Given the description of an element on the screen output the (x, y) to click on. 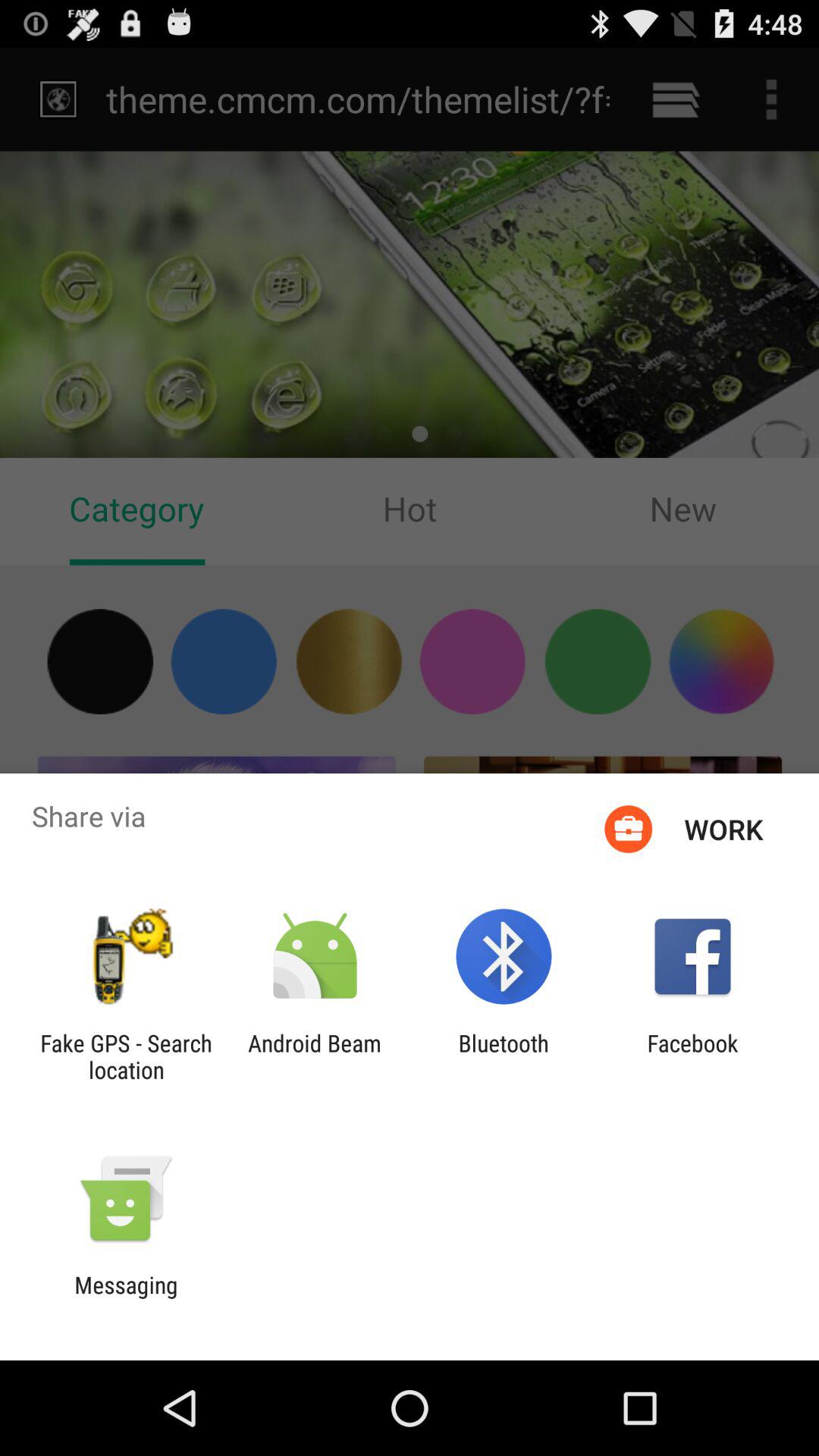
choose the item next to fake gps search icon (314, 1056)
